Given the description of an element on the screen output the (x, y) to click on. 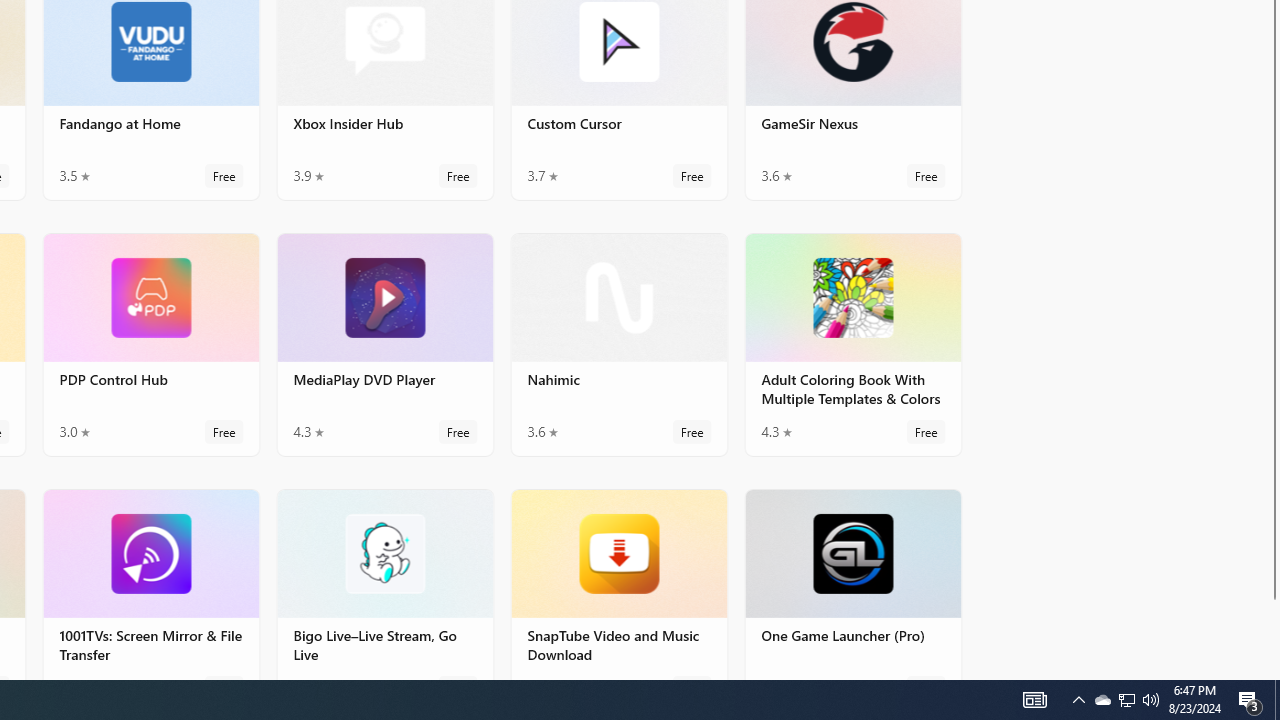
Vertical Small Increase (1272, 672)
Vertical Large Increase (1272, 370)
Nahimic. Average rating of 3.6 out of five stars. Free   (618, 343)
